Given the description of an element on the screen output the (x, y) to click on. 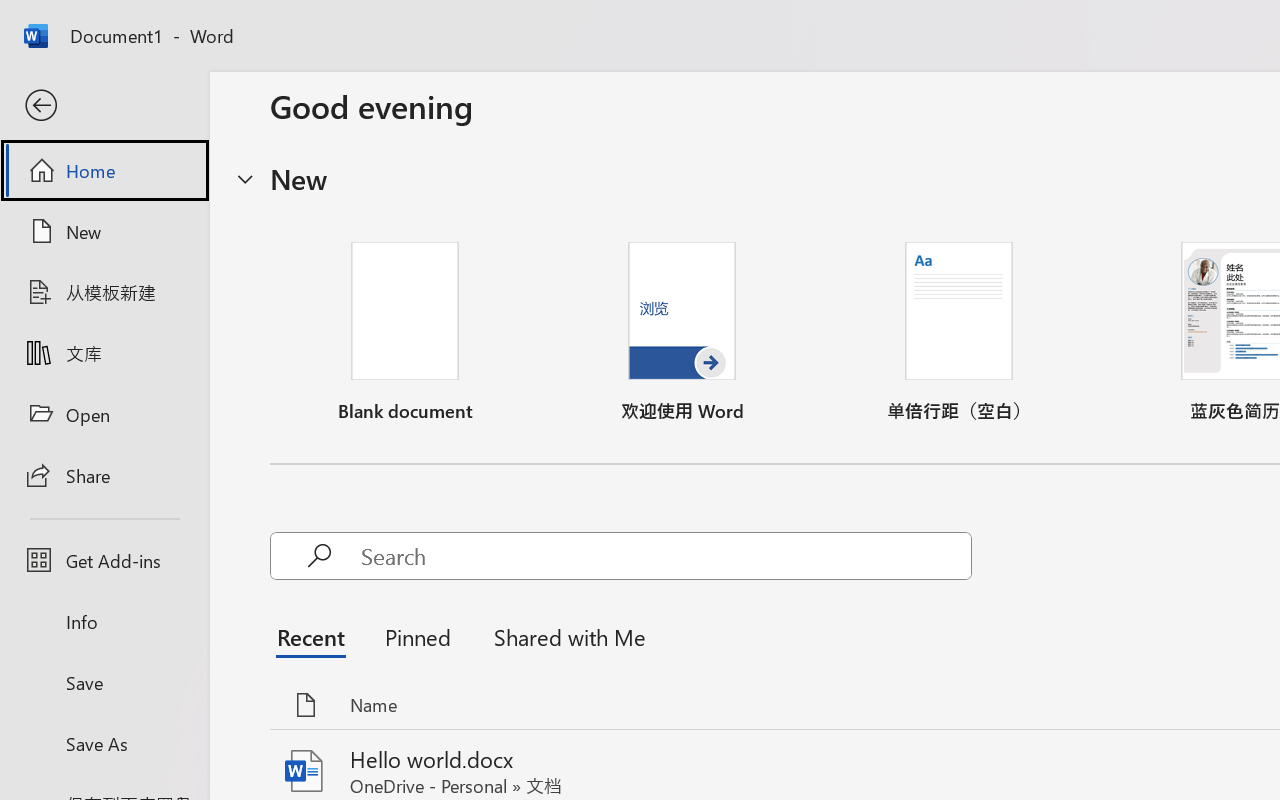
Shared with Me (563, 636)
New (104, 231)
